Given the description of an element on the screen output the (x, y) to click on. 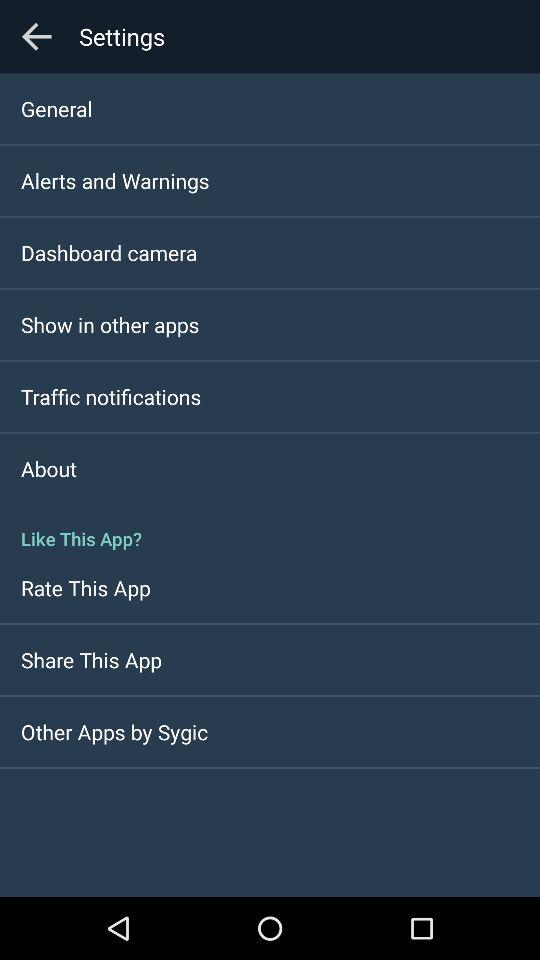
press app below the alerts and warnings (109, 252)
